Given the description of an element on the screen output the (x, y) to click on. 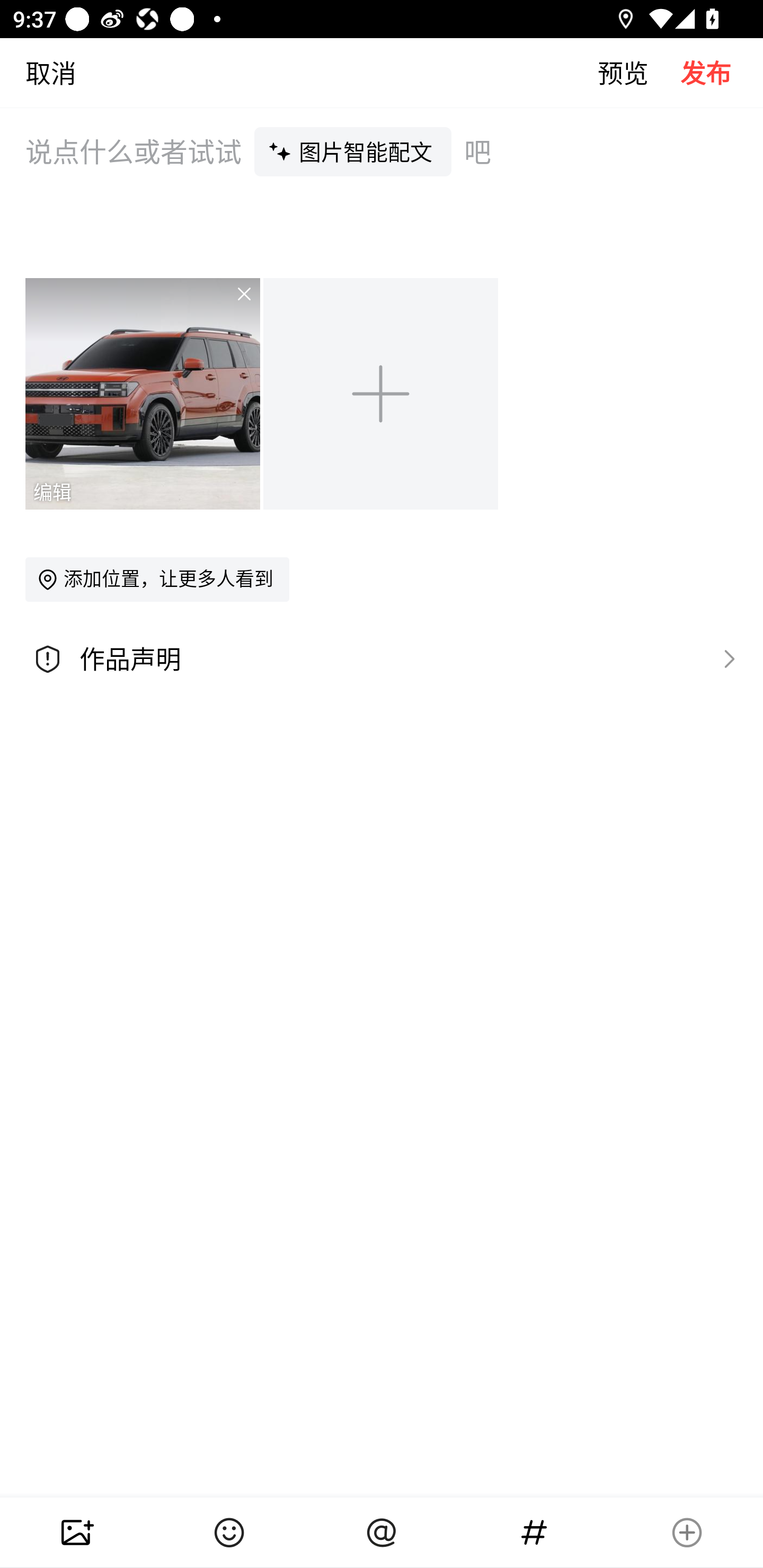
取消 (38, 71)
预览 (638, 71)
发布 (721, 71)
图片智能配文 (352, 151)
图片1，可编辑 移除 编辑 (144, 393)
添加图片 (382, 393)
移除 (231, 306)
添加位置，让更多人看到 (157, 579)
作品声明 高级设置 作品声明 高级设置 (381, 658)
高级设置 (724, 658)
相册 (76, 1532)
表情 (228, 1532)
at (381, 1532)
话题 (533, 1532)
更多 (686, 1532)
